Given the description of an element on the screen output the (x, y) to click on. 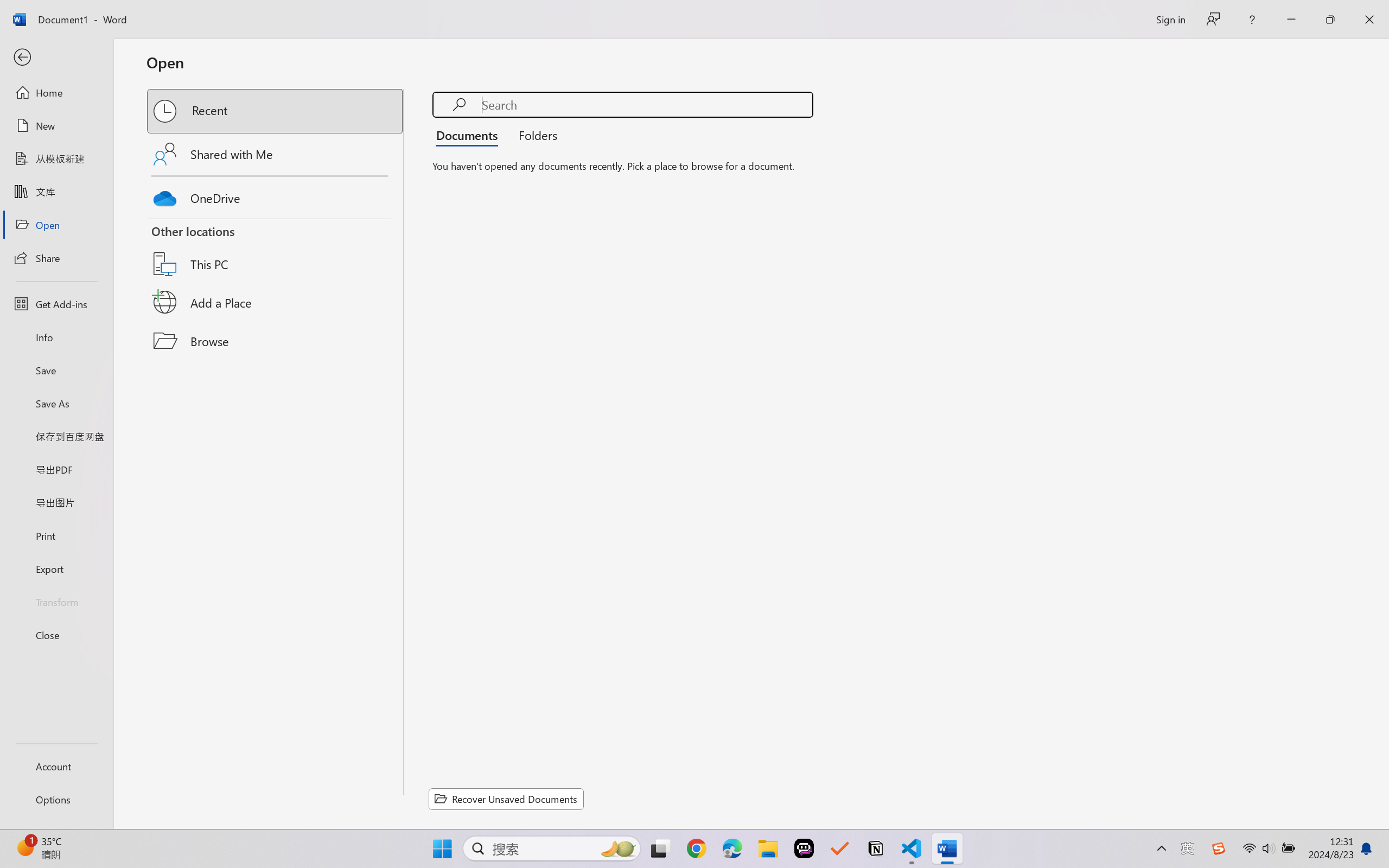
Add a Place (275, 302)
This PC (275, 249)
Export (56, 568)
Info (56, 337)
New (56, 125)
Print (56, 535)
Options (56, 798)
Recover Unsaved Documents (506, 798)
Documents (469, 134)
